Given the description of an element on the screen output the (x, y) to click on. 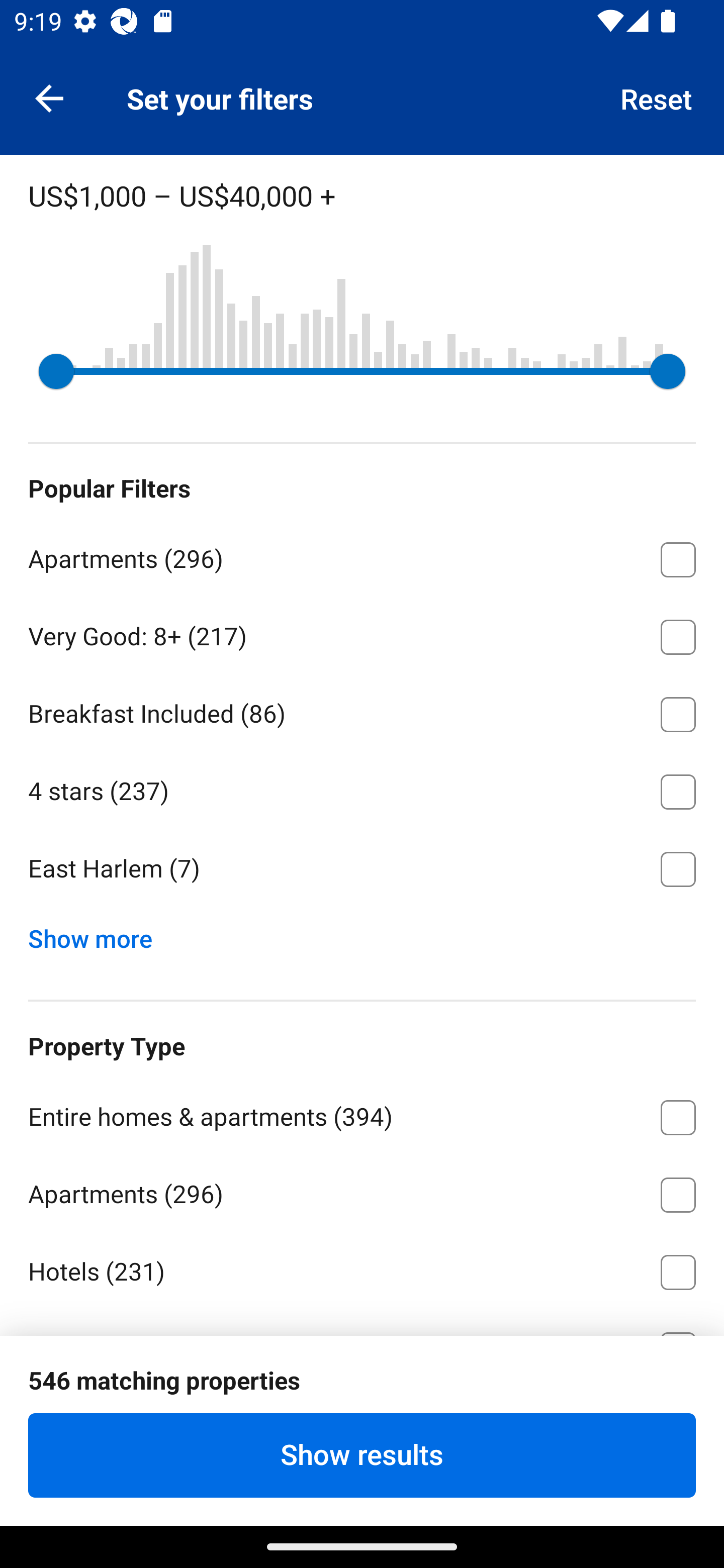
Navigate up (49, 97)
Reset (656, 97)
Apartments ⁦(296) (361, 555)
Very Good: 8+ ⁦(217) (361, 633)
Breakfast Included ⁦(86) (361, 710)
4 stars ⁦(237) (361, 788)
East Harlem ⁦(7) (361, 869)
Show more (97, 934)
Entire homes & apartments ⁦(394) (361, 1113)
Apartments ⁦(296) (361, 1191)
Hotels ⁦(231) (361, 1268)
Show results (361, 1454)
